Given the description of an element on the screen output the (x, y) to click on. 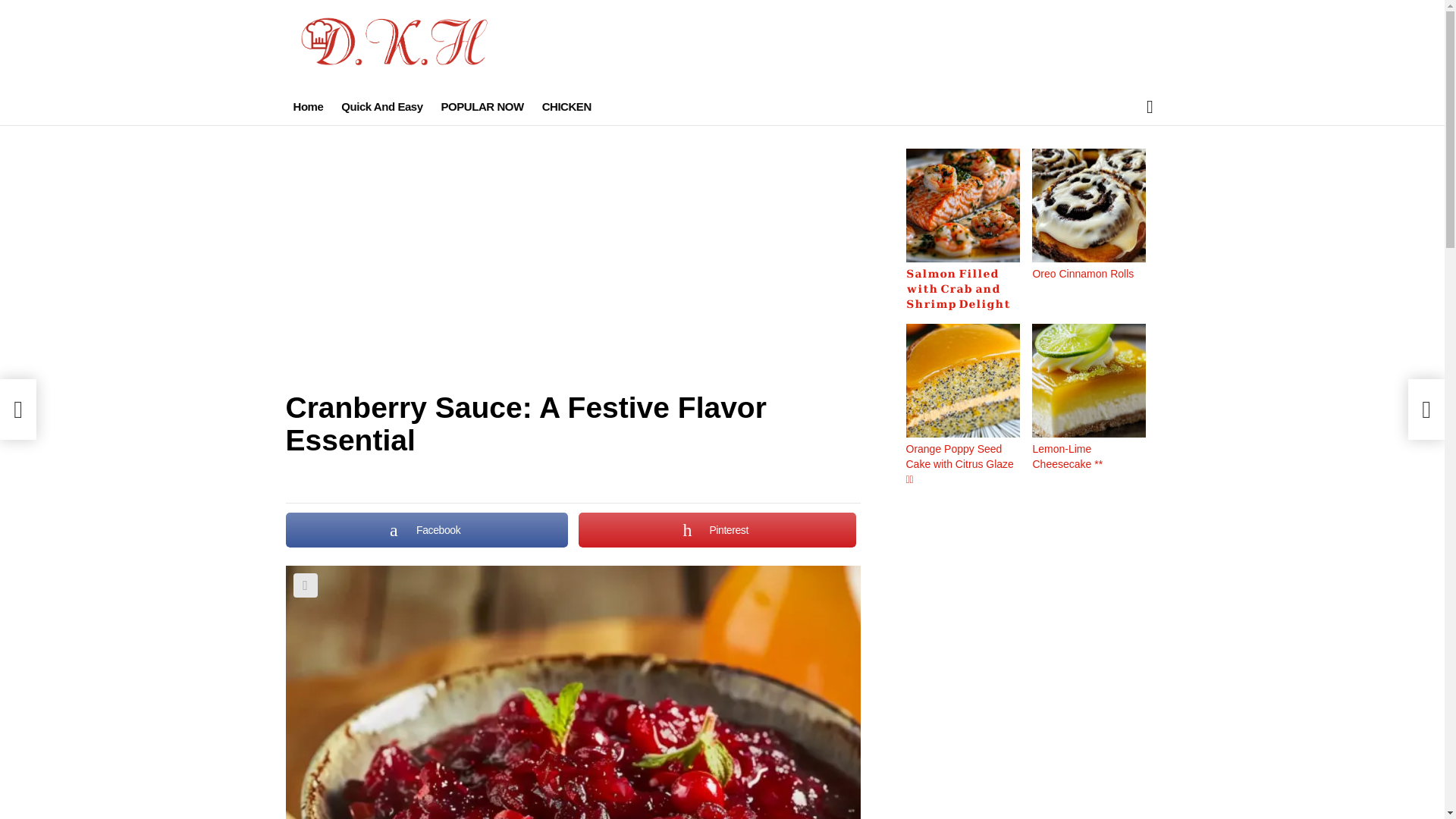
Share on Facebook (426, 529)
Facebook (426, 529)
Share on Pinterest (717, 529)
Oreo Cinnamon Rolls (1083, 273)
Home (307, 106)
Share (304, 585)
POPULAR NOW (482, 106)
CHICKEN (566, 106)
Quick And Easy (381, 106)
Pinterest (717, 529)
